Given the description of an element on the screen output the (x, y) to click on. 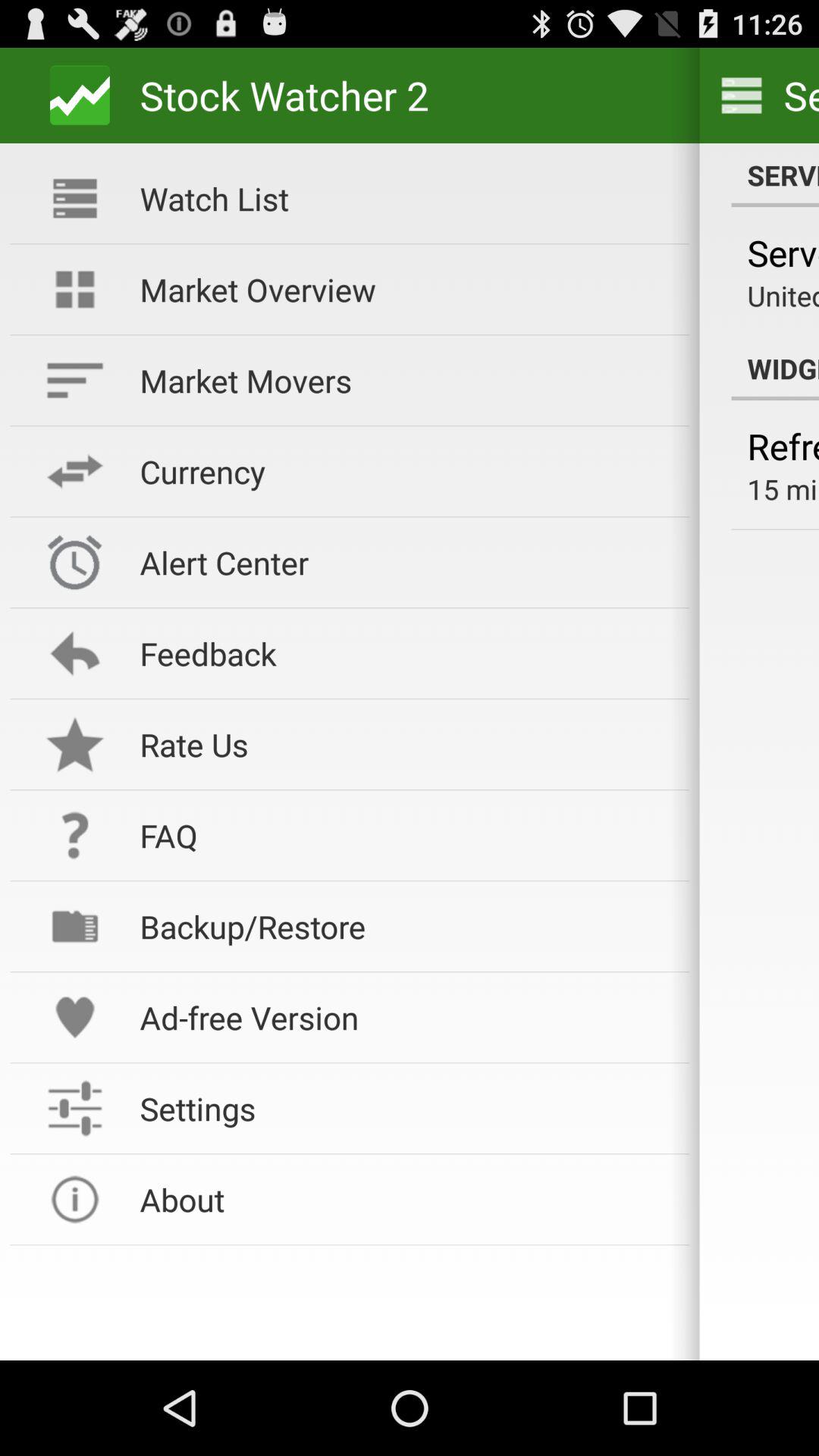
turn on 15 minutes (783, 488)
